Given the description of an element on the screen output the (x, y) to click on. 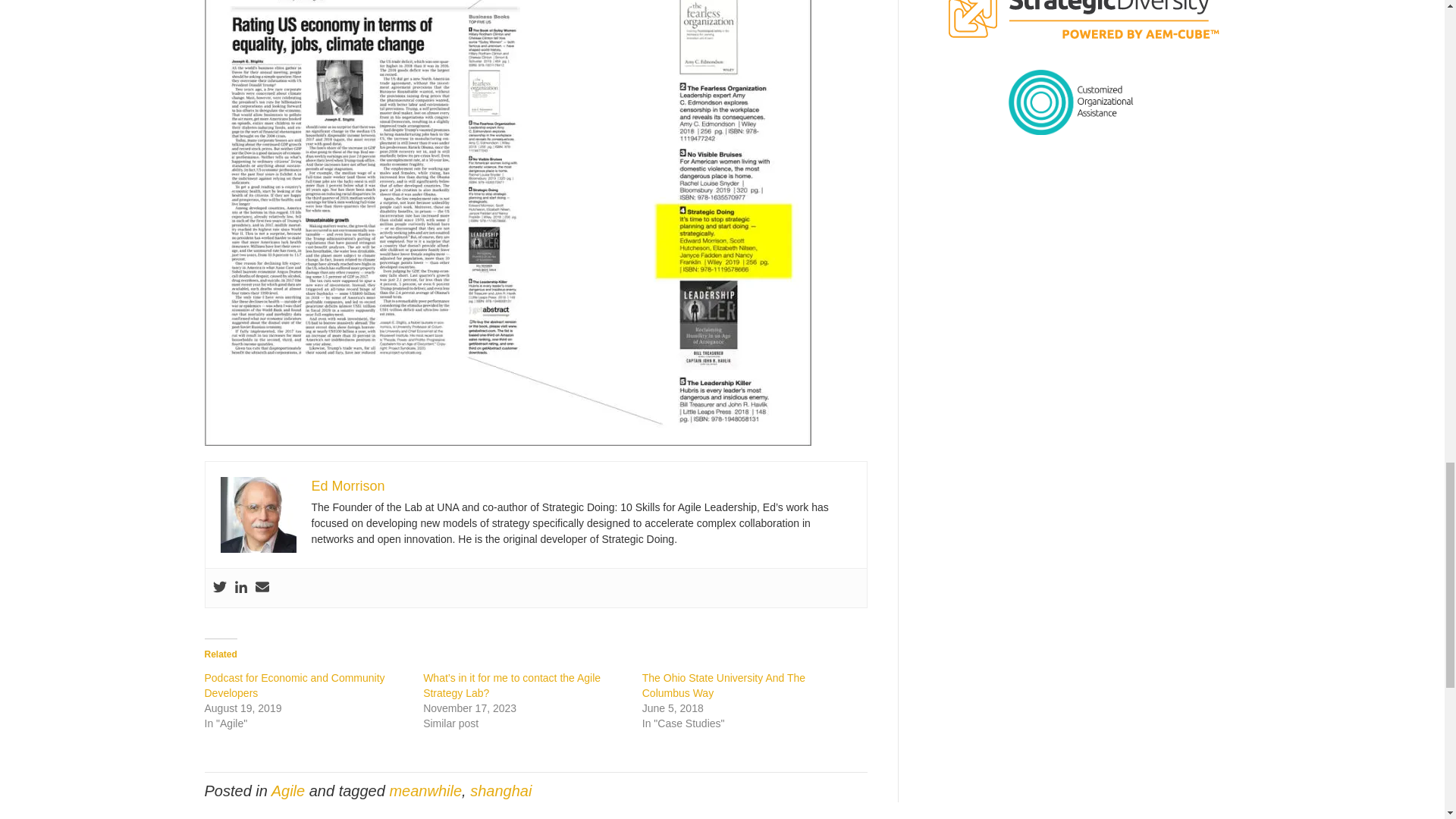
The Ohio State University And The Columbus Way (723, 685)
Podcast for Economic and Community Developers (295, 685)
